Given the description of an element on the screen output the (x, y) to click on. 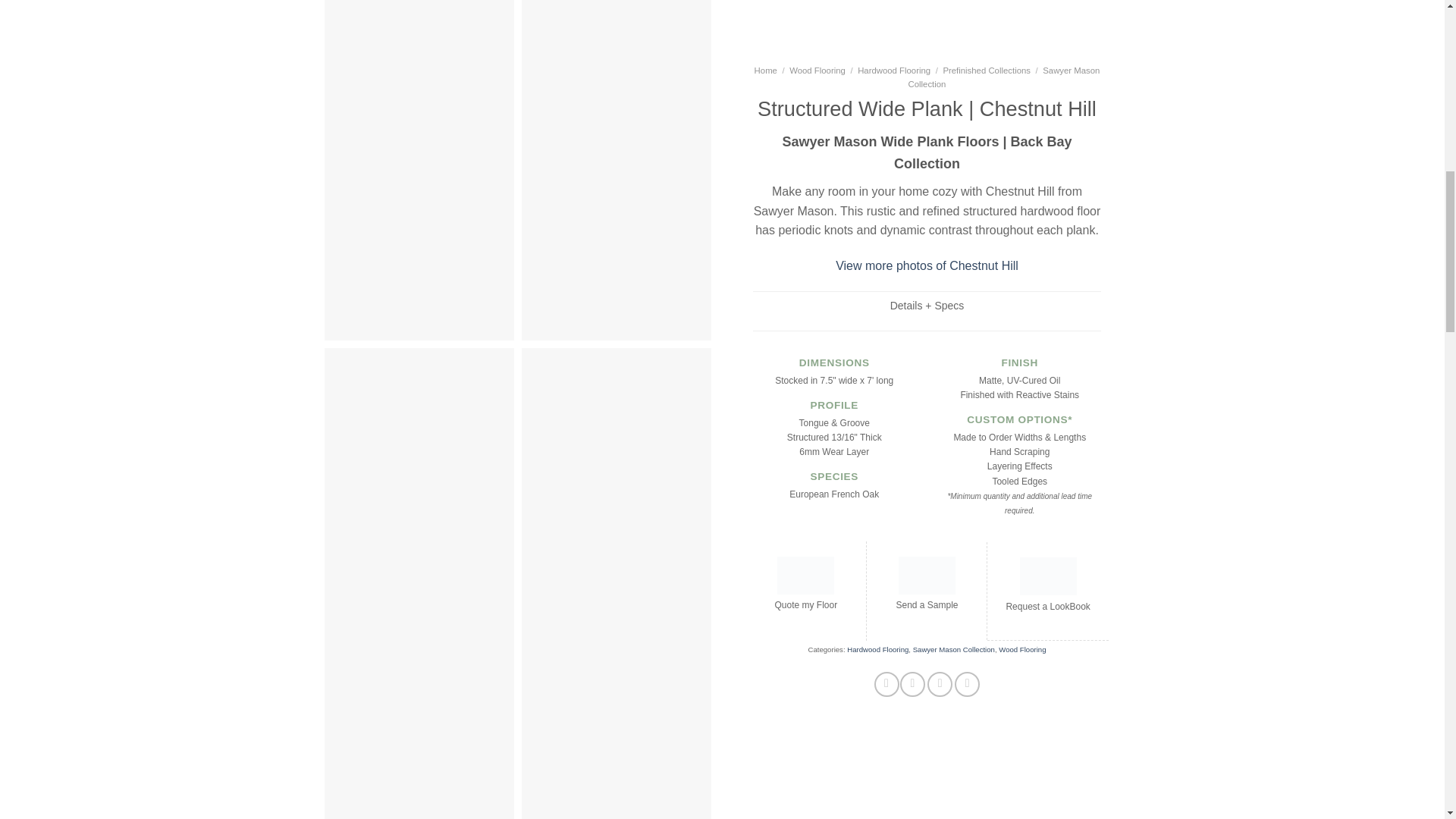
Share on Facebook (887, 6)
Share on X (911, 6)
Pin on Pinterest (967, 6)
Email to a Friend (939, 6)
